Given the description of an element on the screen output the (x, y) to click on. 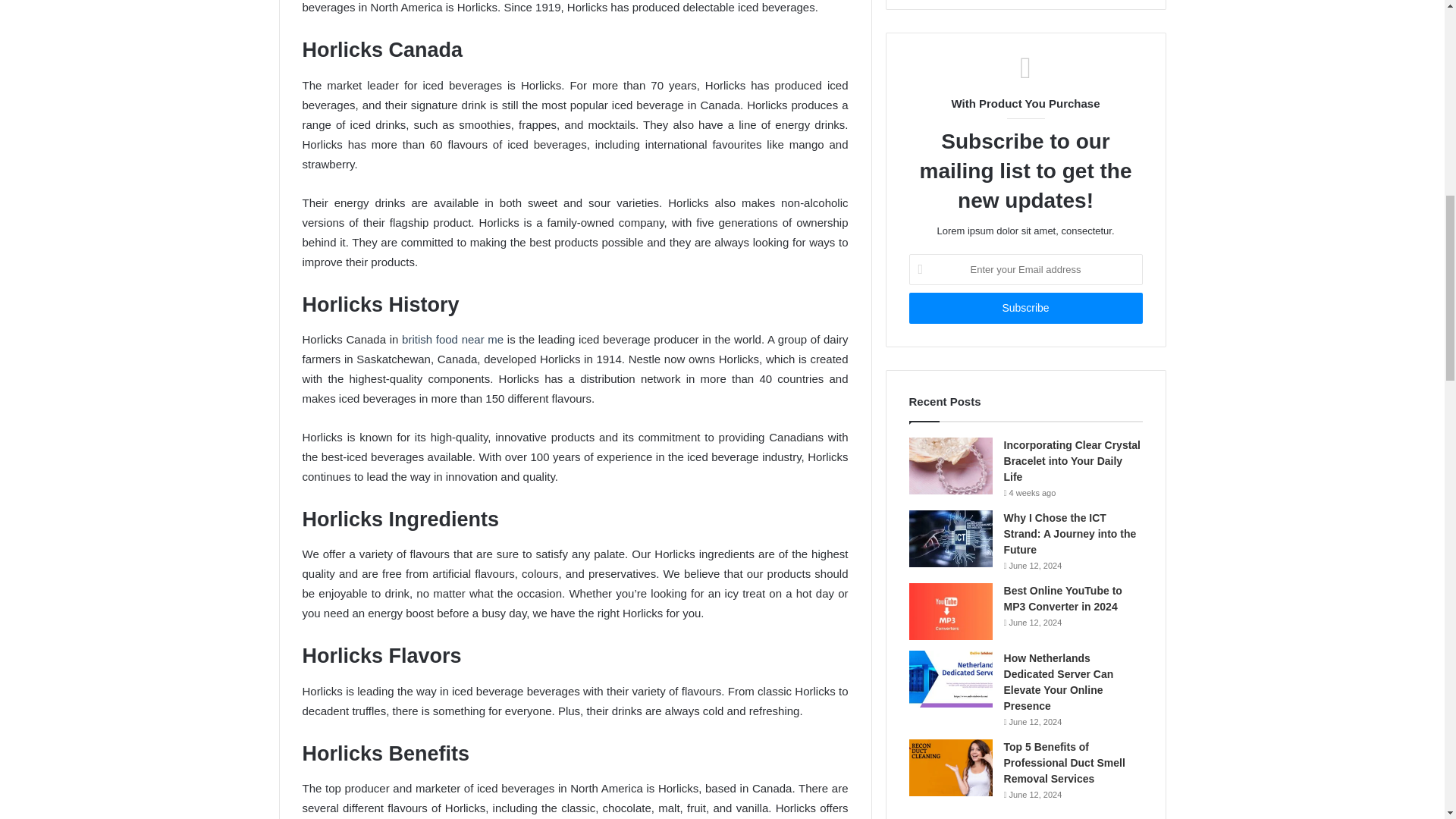
Subscribe (1025, 307)
